Given the description of an element on the screen output the (x, y) to click on. 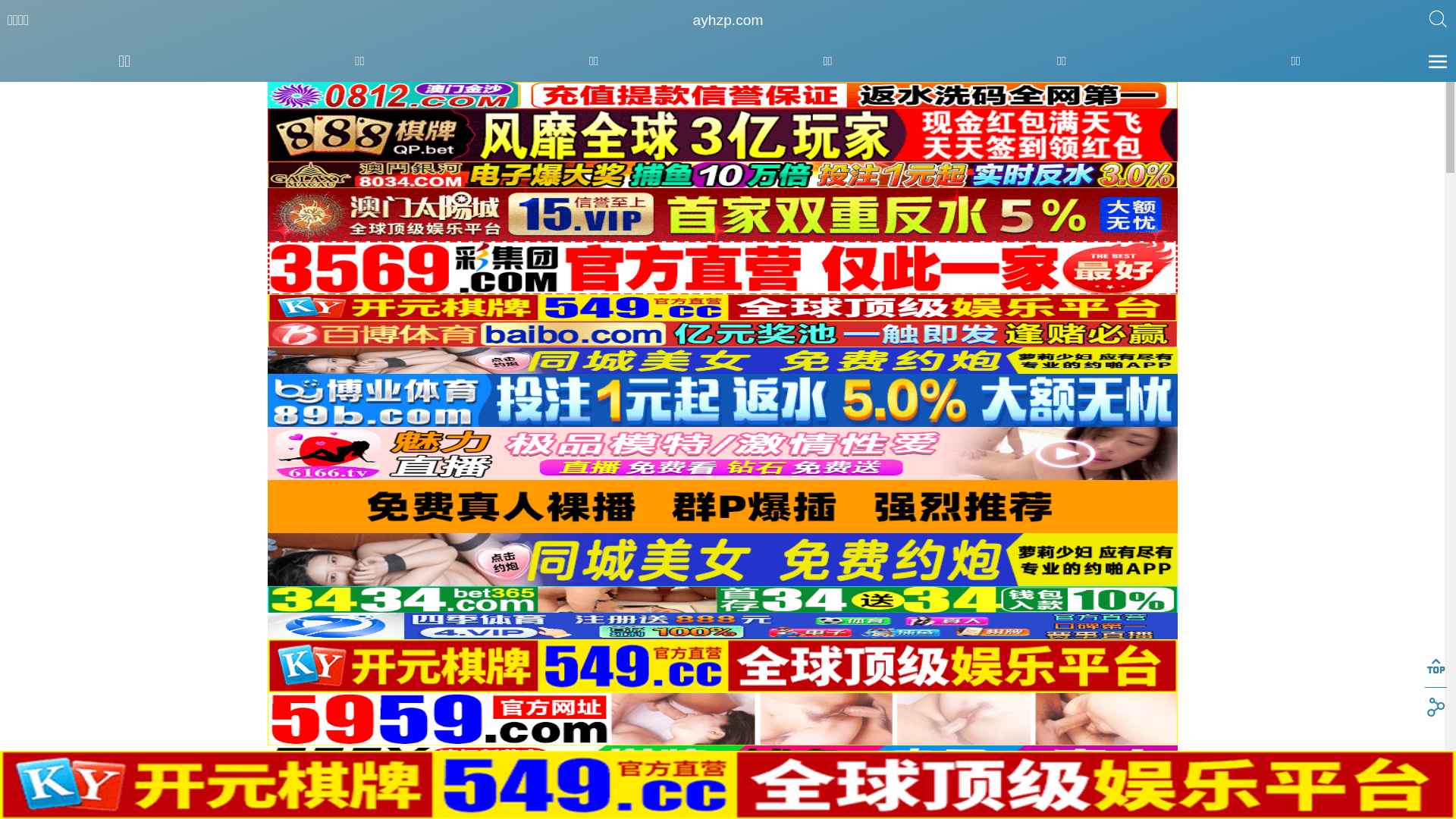
ayhzp.com Element type: text (728, 20)
